Given the description of an element on the screen output the (x, y) to click on. 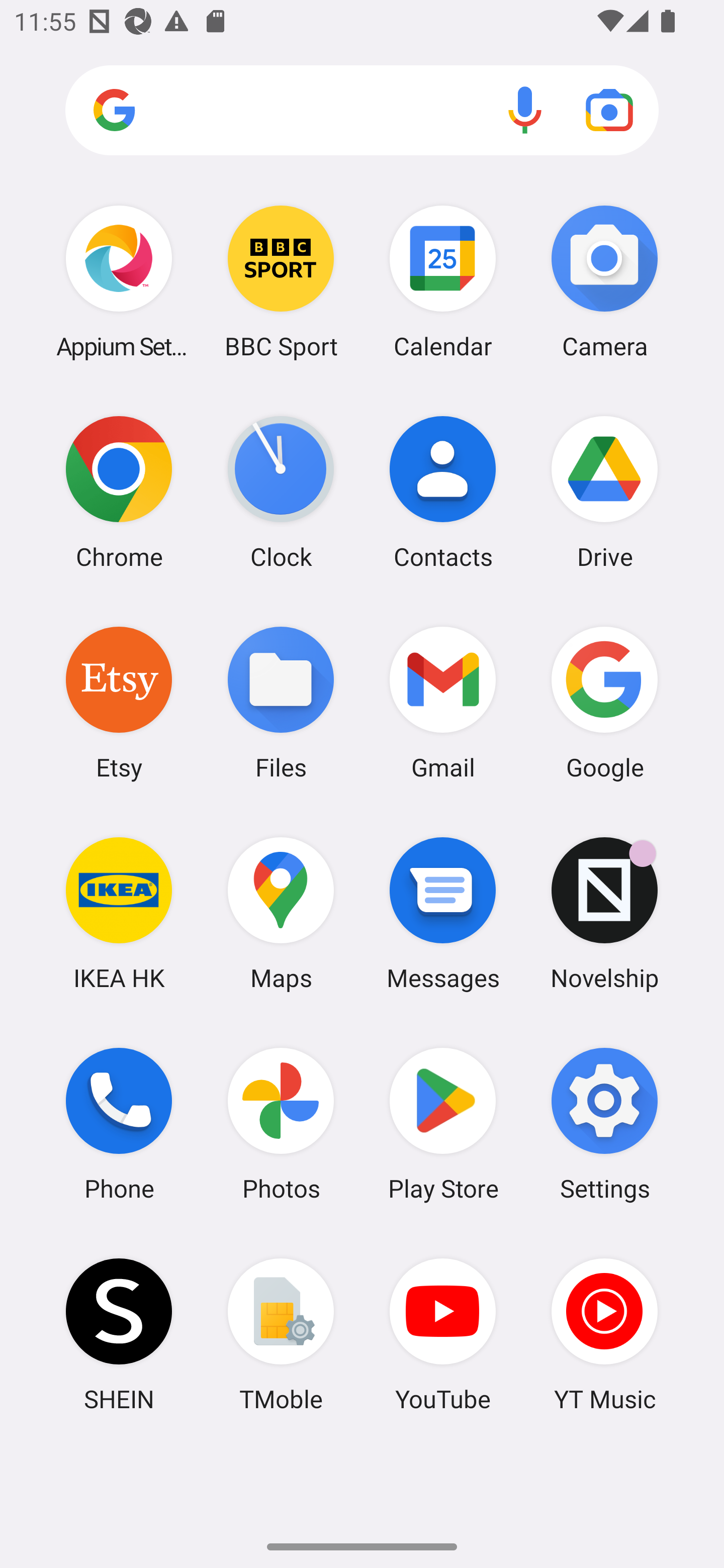
Search apps, web and more (361, 110)
Voice search (524, 109)
Google Lens (608, 109)
Appium Settings (118, 281)
BBC Sport (280, 281)
Calendar (443, 281)
Camera (604, 281)
Chrome (118, 492)
Clock (280, 492)
Contacts (443, 492)
Drive (604, 492)
Etsy (118, 702)
Files (280, 702)
Gmail (443, 702)
Google (604, 702)
IKEA HK (118, 913)
Maps (280, 913)
Messages (443, 913)
Novelship Novelship has 7 notifications (604, 913)
Phone (118, 1124)
Photos (280, 1124)
Play Store (443, 1124)
Settings (604, 1124)
SHEIN (118, 1334)
TMoble (280, 1334)
YouTube (443, 1334)
YT Music (604, 1334)
